Given the description of an element on the screen output the (x, y) to click on. 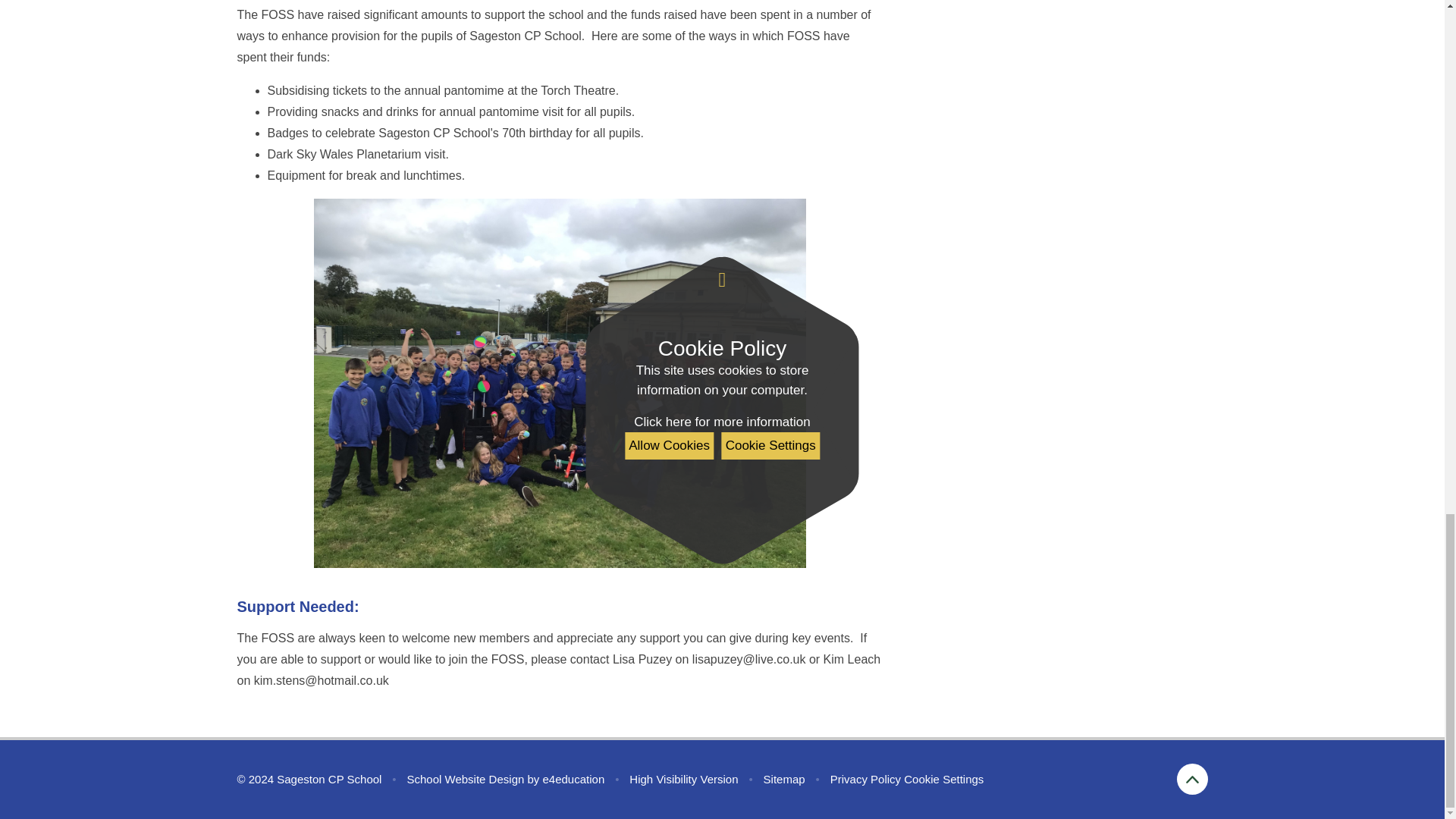
Cookie Settings (944, 779)
